Given the description of an element on the screen output the (x, y) to click on. 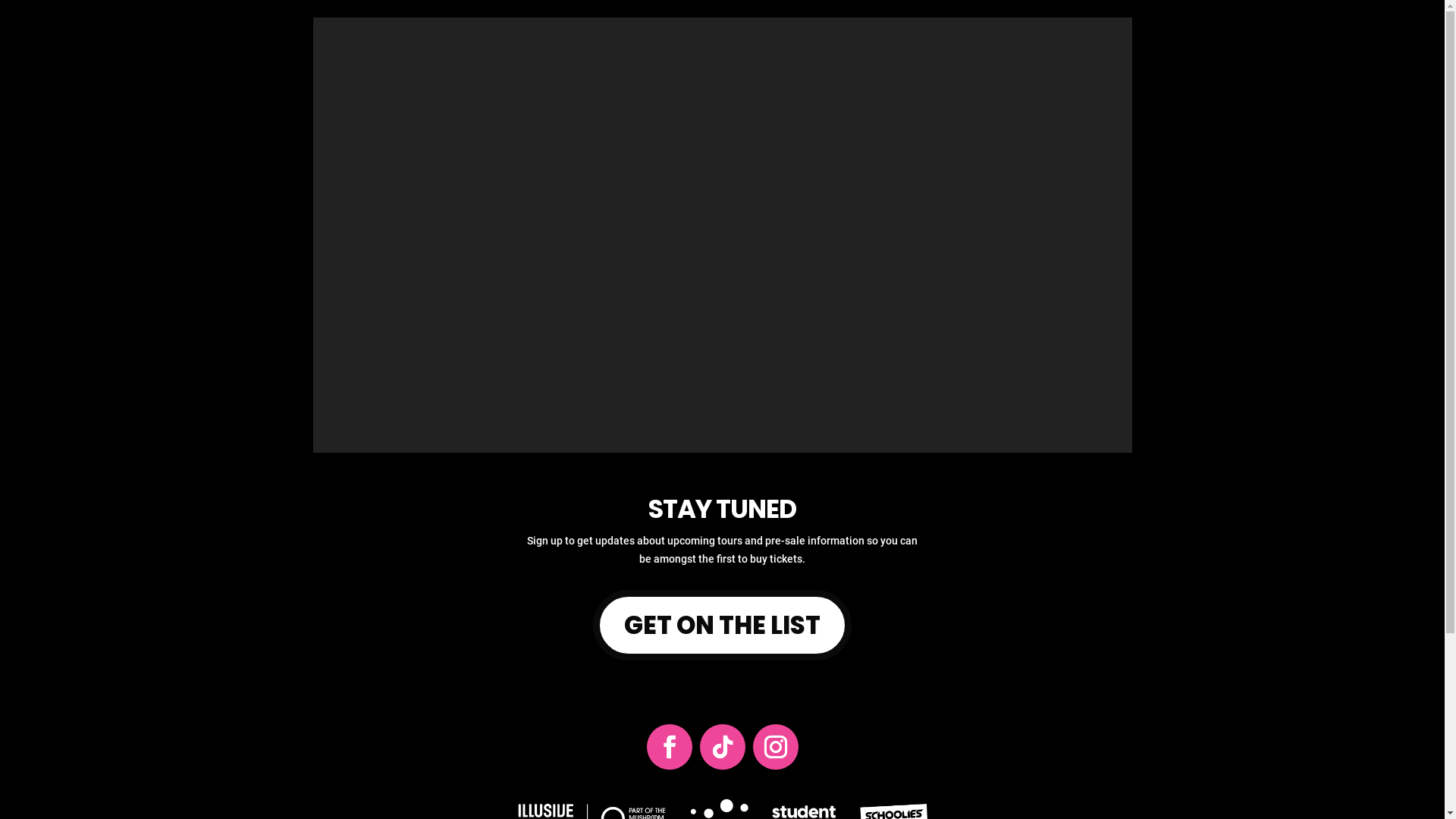
Follow on Facebook Element type: hover (669, 746)
Follow on Instagram Element type: hover (775, 746)
Follow on TikTok Element type: hover (722, 746)
GET ON THE LIST Element type: text (722, 624)
